Given the description of an element on the screen output the (x, y) to click on. 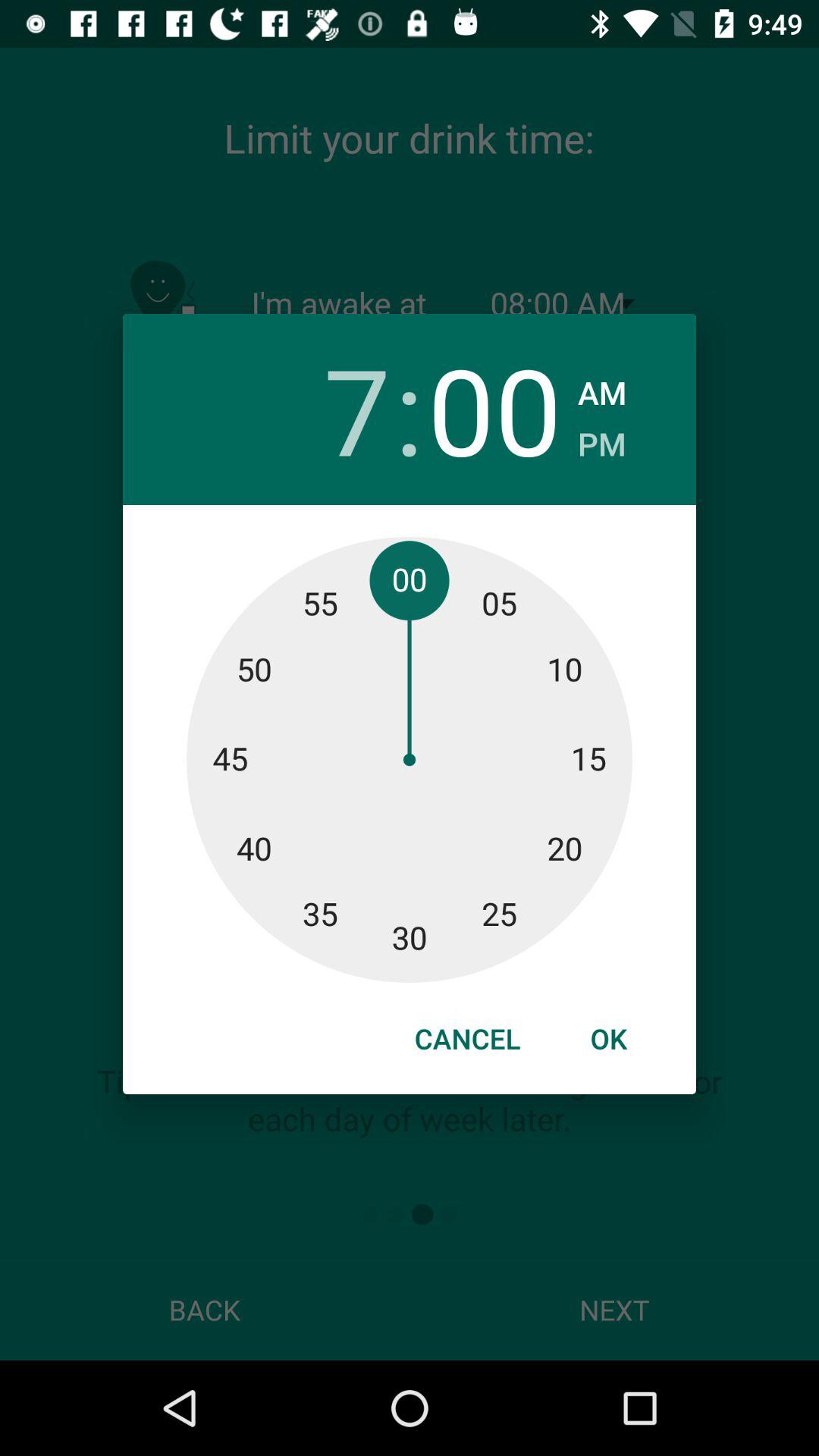
choose item next to 00 icon (601, 388)
